Given the description of an element on the screen output the (x, y) to click on. 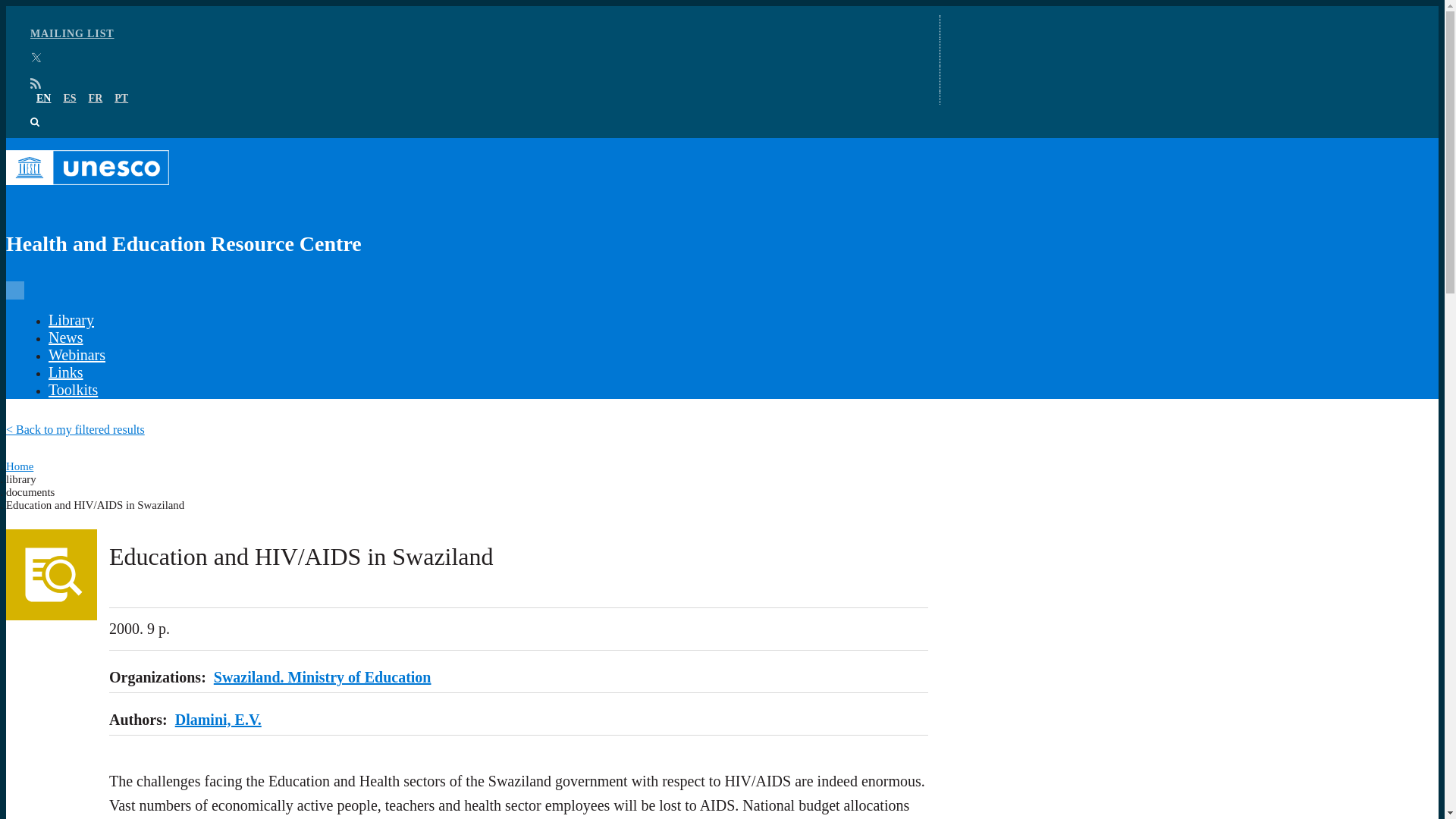
Links (65, 371)
Dlamini, E.V. (218, 719)
PT (121, 98)
News (65, 337)
Toolkits (72, 389)
Health and Education Resource Centre (466, 209)
EN (43, 98)
MAILING LIST (72, 33)
Skip to main content (722, 7)
ES (68, 98)
Swaziland. Ministry of Education (322, 677)
Library (71, 320)
FR (95, 98)
Home (19, 466)
Webinars (76, 354)
